Given the description of an element on the screen output the (x, y) to click on. 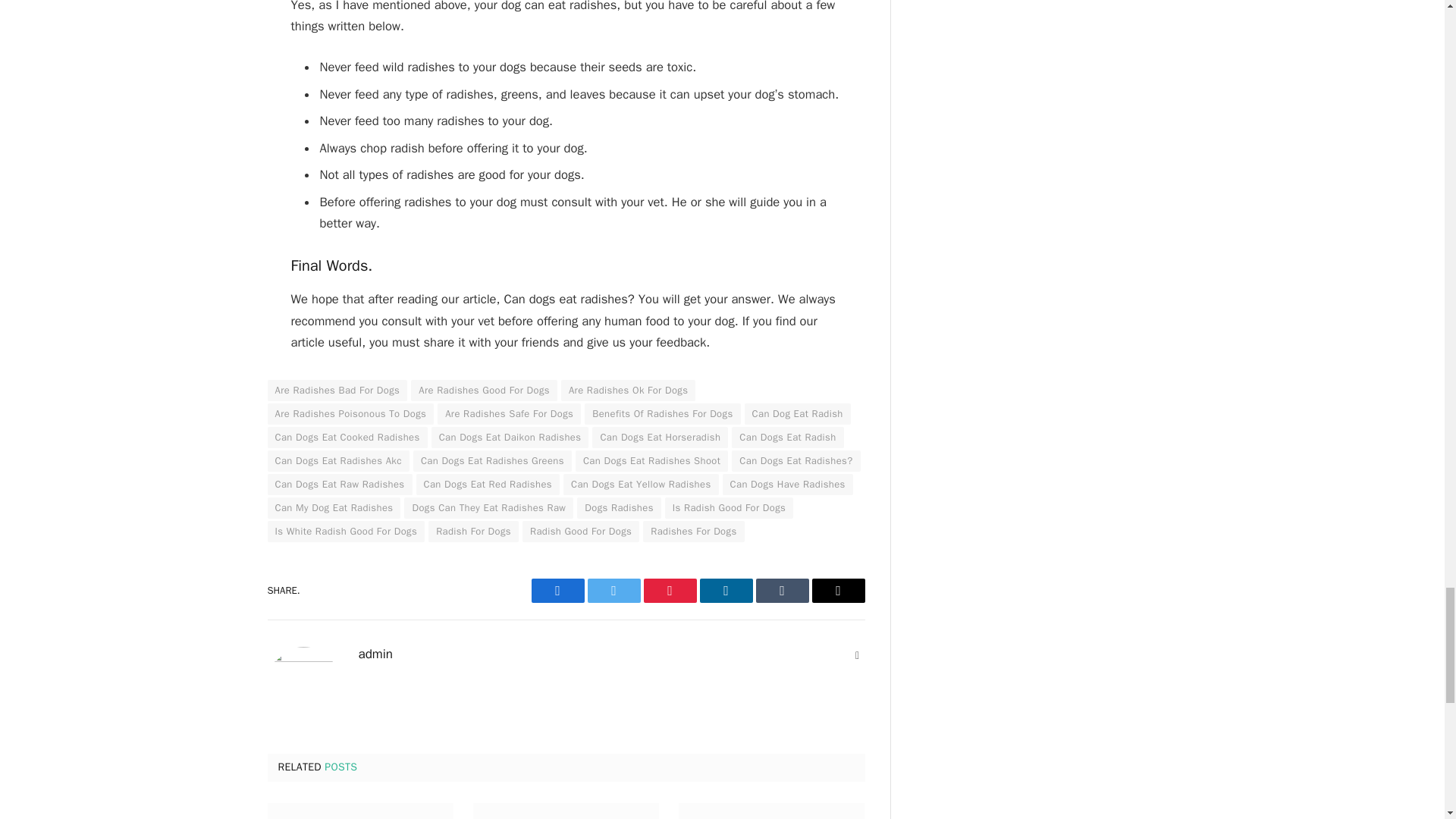
Are Radishes Poisonous To Dogs (349, 414)
Benefits Of Radishes For Dogs (662, 414)
Are Radishes Bad For Dogs (336, 390)
Are Radishes Safe For Dogs (509, 414)
Can Dogs Eat Horseradish (660, 436)
Share on Facebook (557, 590)
Are Radishes Ok For Dogs (627, 390)
Can Dogs Eat Cooked Radishes (346, 436)
Share on Pinterest (669, 590)
Can Dogs Eat Daikon Radishes (509, 436)
Can Dogs Eat Radish (787, 436)
Can Dog Eat Radish (797, 414)
Can Dogs Eat Radishes Akc (337, 460)
Are Radishes Good For Dogs (483, 390)
